Given the description of an element on the screen output the (x, y) to click on. 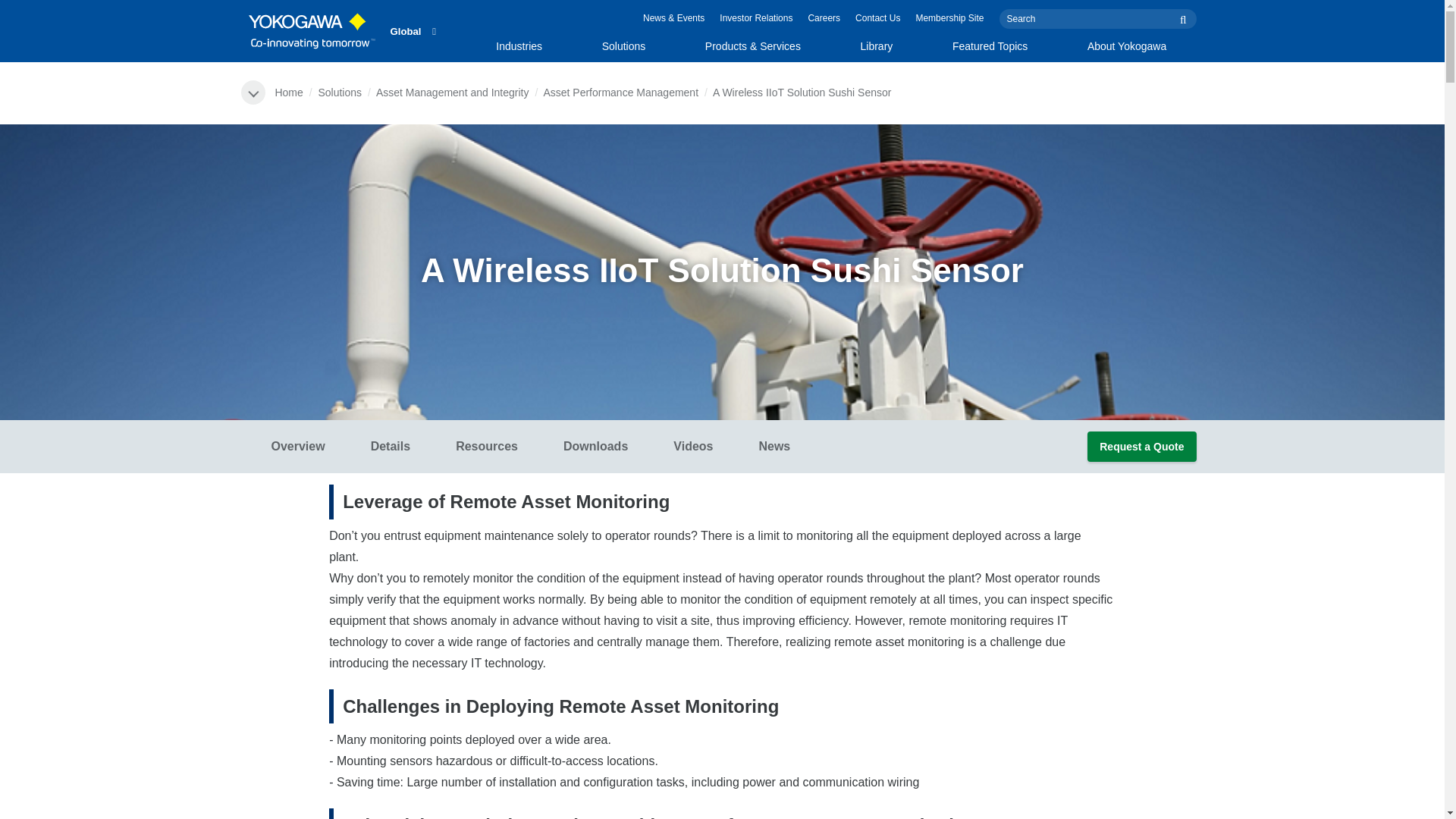
Search (1097, 18)
Contact Us (877, 18)
About Yokogawa (1127, 49)
Membership Site (530, 446)
Careers (949, 18)
Featured Topics (824, 18)
Investor Relations (990, 49)
Library (755, 18)
submit (875, 49)
